Given the description of an element on the screen output the (x, y) to click on. 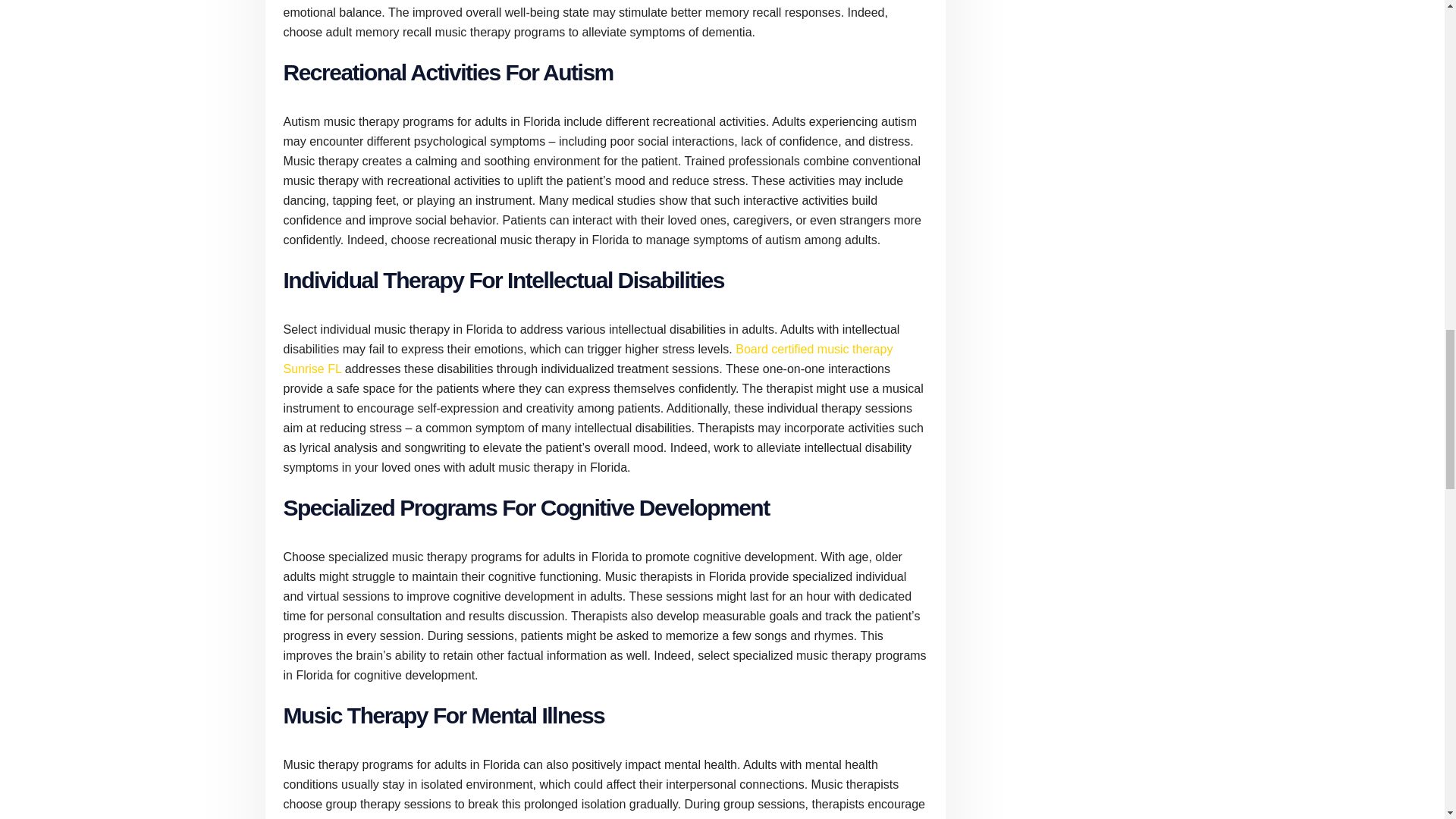
Board certified music therapy Sunrise FL (588, 359)
